Given the description of an element on the screen output the (x, y) to click on. 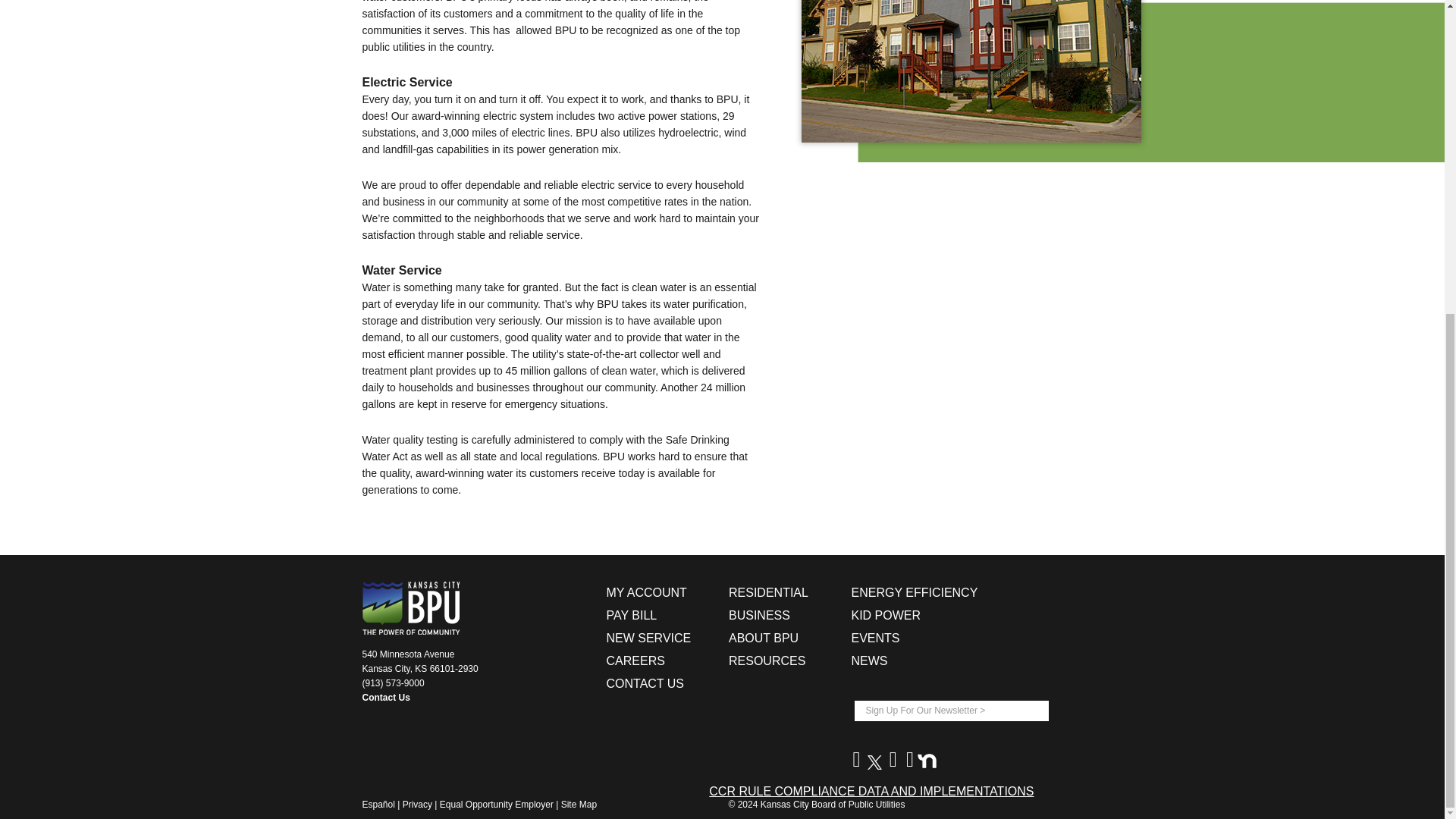
Live chat (1401, 280)
